Given the description of an element on the screen output the (x, y) to click on. 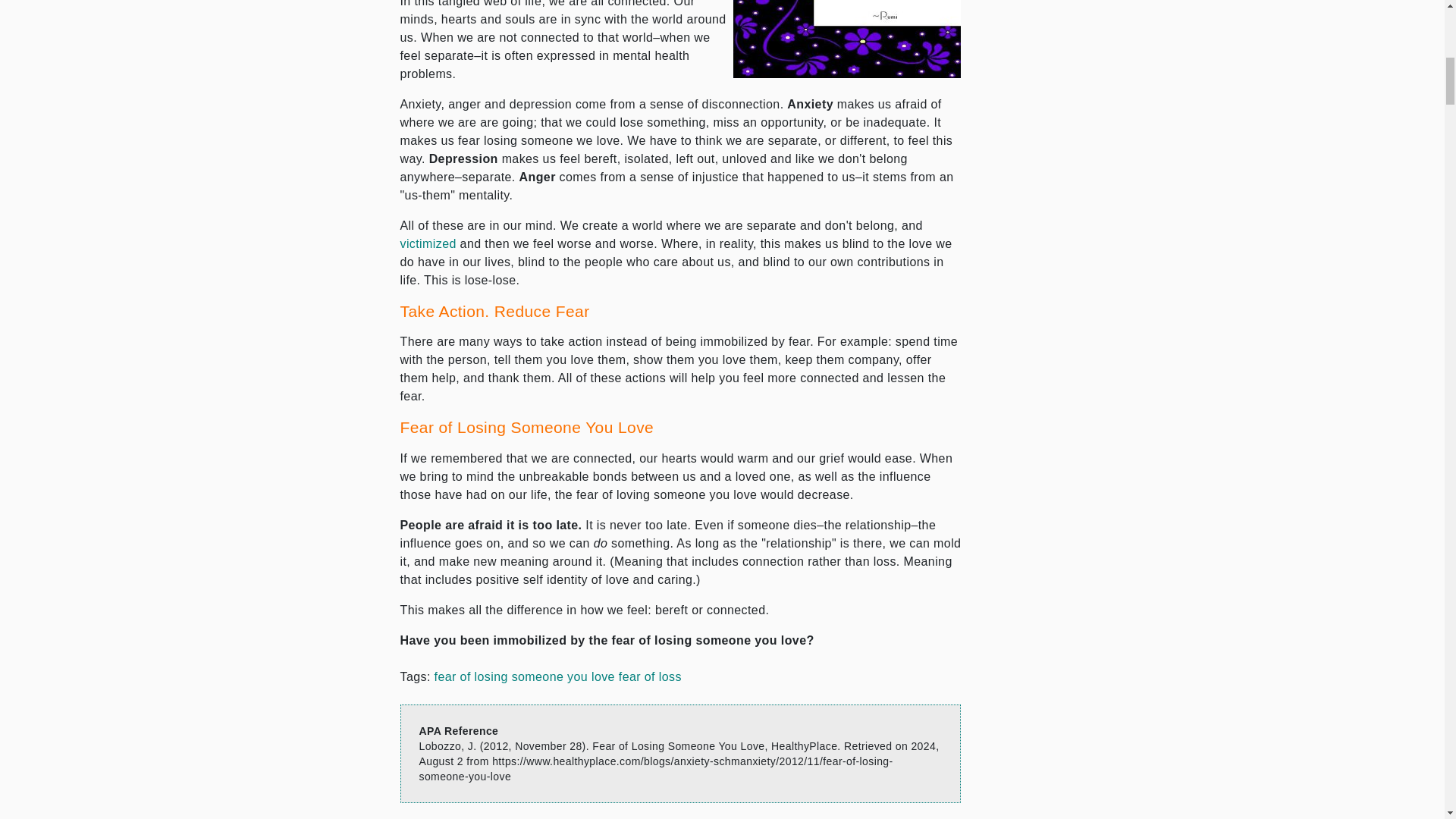
Ways to Escape Your Victim Mentality (428, 243)
